Given the description of an element on the screen output the (x, y) to click on. 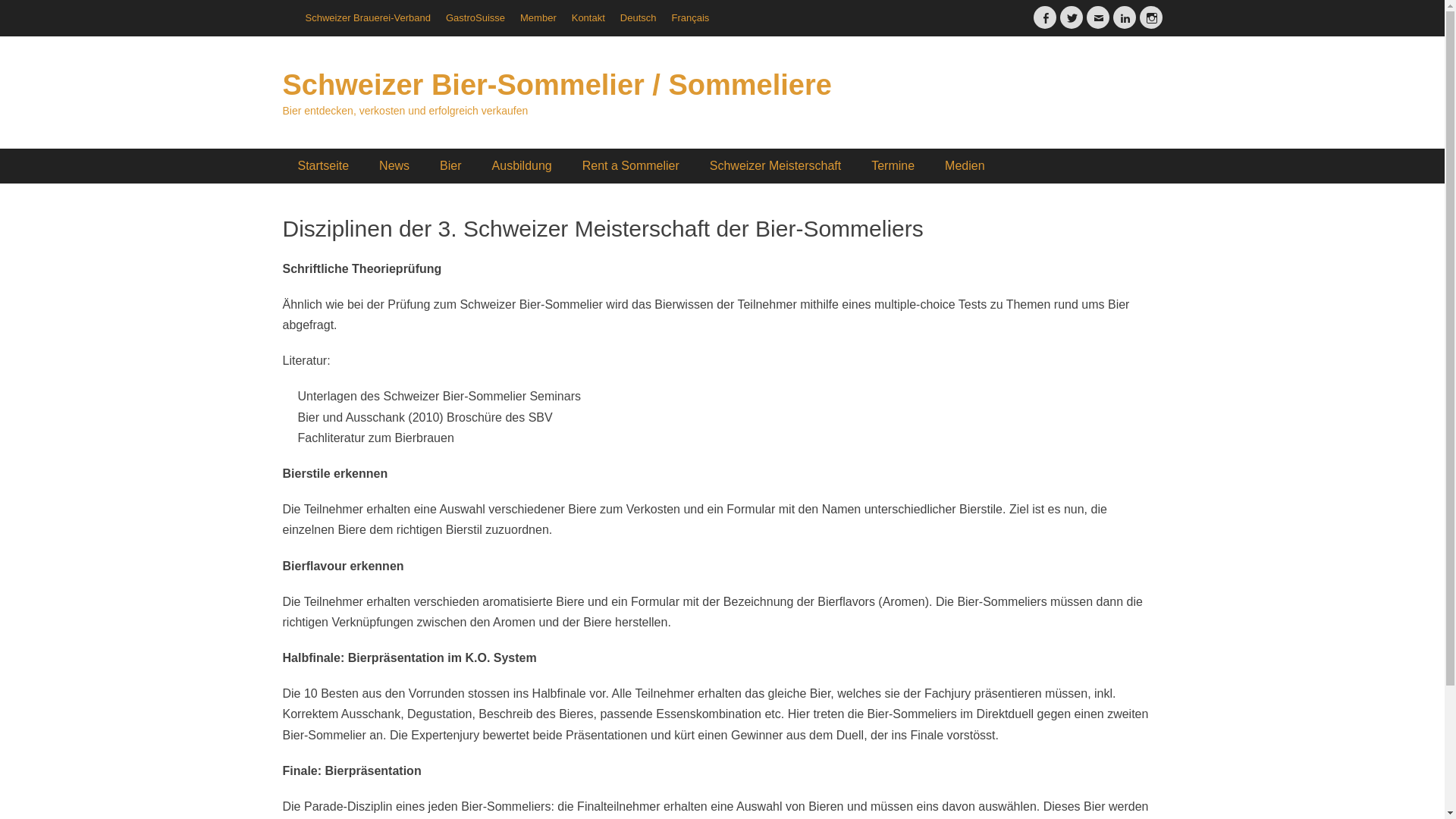
LinkedIn Element type: text (1124, 17)
GastroSuisse Element type: text (475, 18)
Startseite Element type: text (323, 165)
Kontakt Element type: text (588, 18)
Termine Element type: text (892, 165)
News Element type: text (394, 165)
Weiter zum Inhalt Element type: text (297, 30)
Member Element type: text (538, 18)
Instagram Element type: text (1150, 17)
Rent a Sommelier Element type: text (630, 165)
Facebook Element type: text (1043, 17)
E-Mail Element type: text (1096, 17)
Ausbildung Element type: text (521, 165)
Bier Element type: text (450, 165)
Deutsch Element type: text (638, 18)
Twitter Element type: text (1071, 17)
Schweizer Bier-Sommelier / Sommeliere Element type: text (556, 84)
Schweizer Meisterschaft Element type: text (775, 165)
Medien Element type: text (964, 165)
Schweizer Brauerei-Verband Element type: text (367, 18)
